Given the description of an element on the screen output the (x, y) to click on. 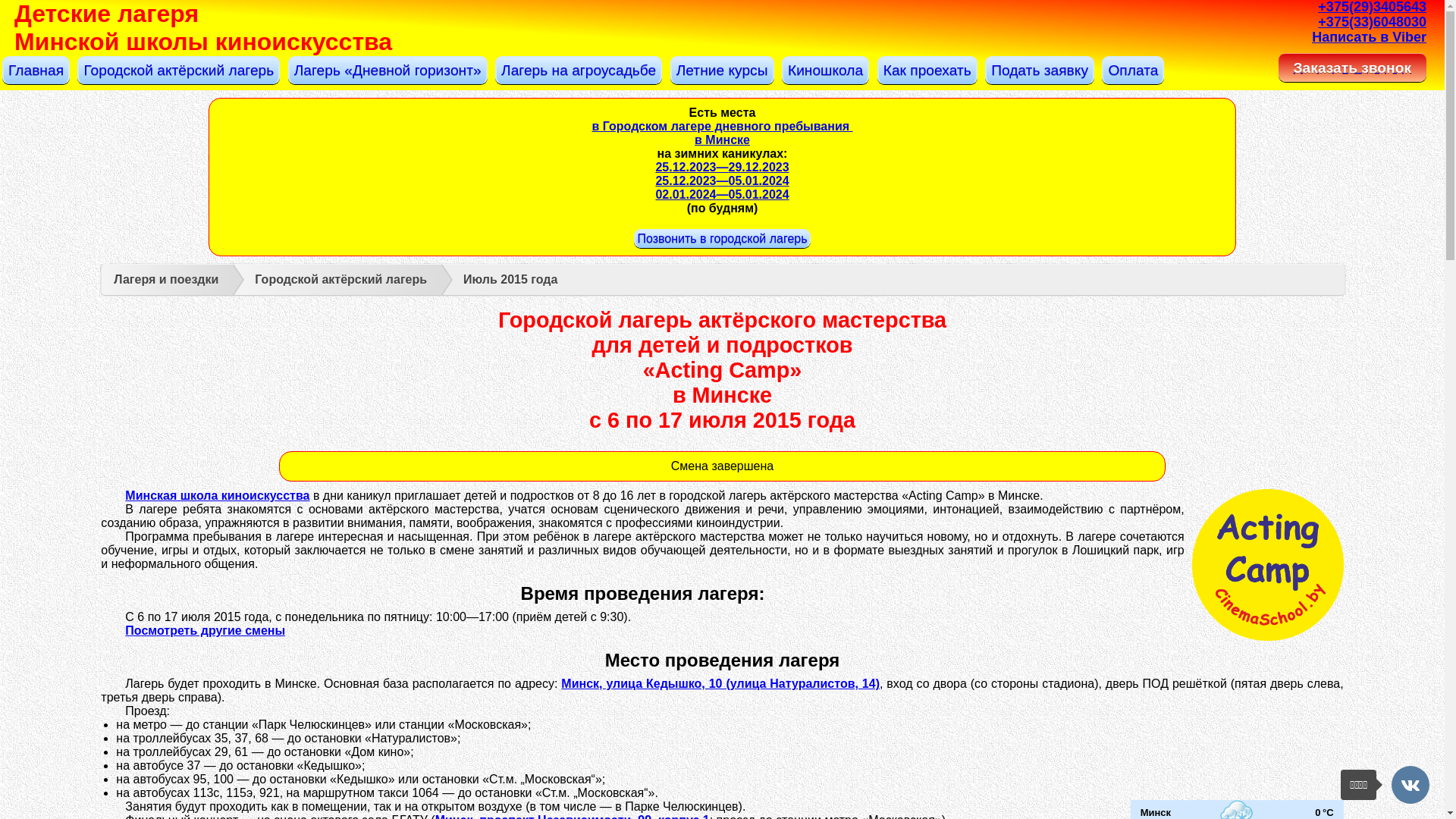
+375(33)6048030 Element type: text (1371, 21)
